Given the description of an element on the screen output the (x, y) to click on. 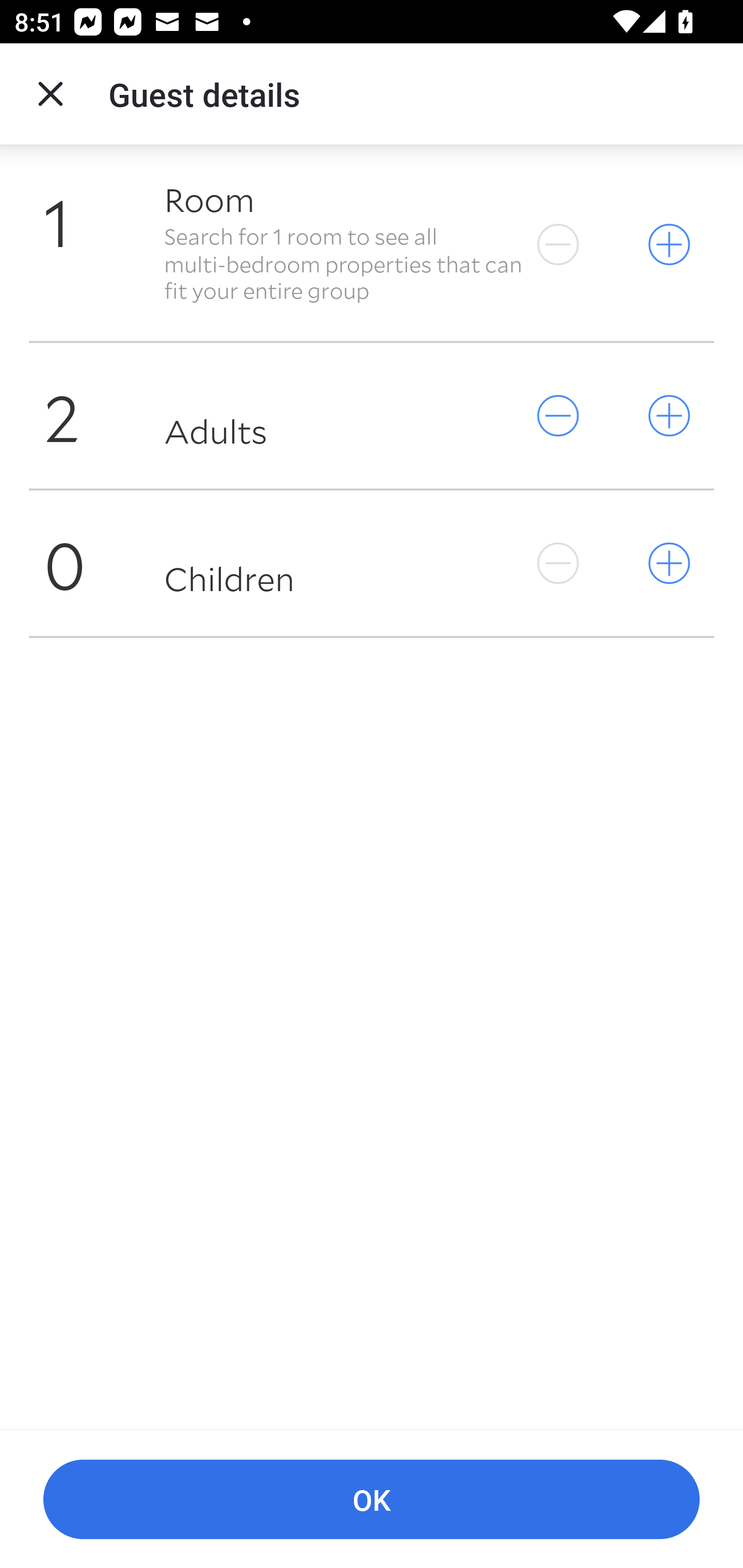
OK (371, 1499)
